Given the description of an element on the screen output the (x, y) to click on. 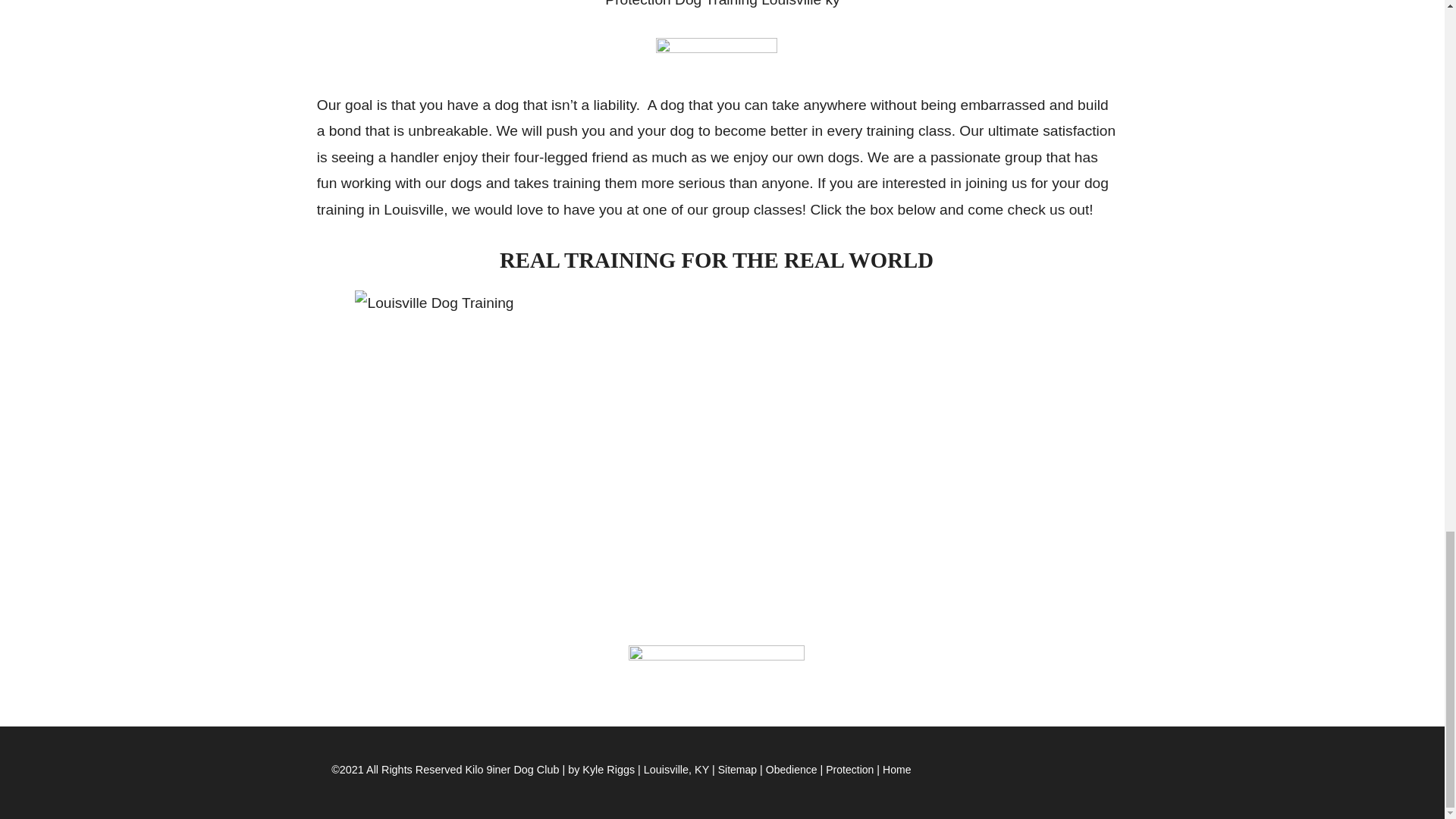
Obedience (790, 769)
Protection (849, 769)
Home (896, 769)
Sitemap (737, 769)
